Given the description of an element on the screen output the (x, y) to click on. 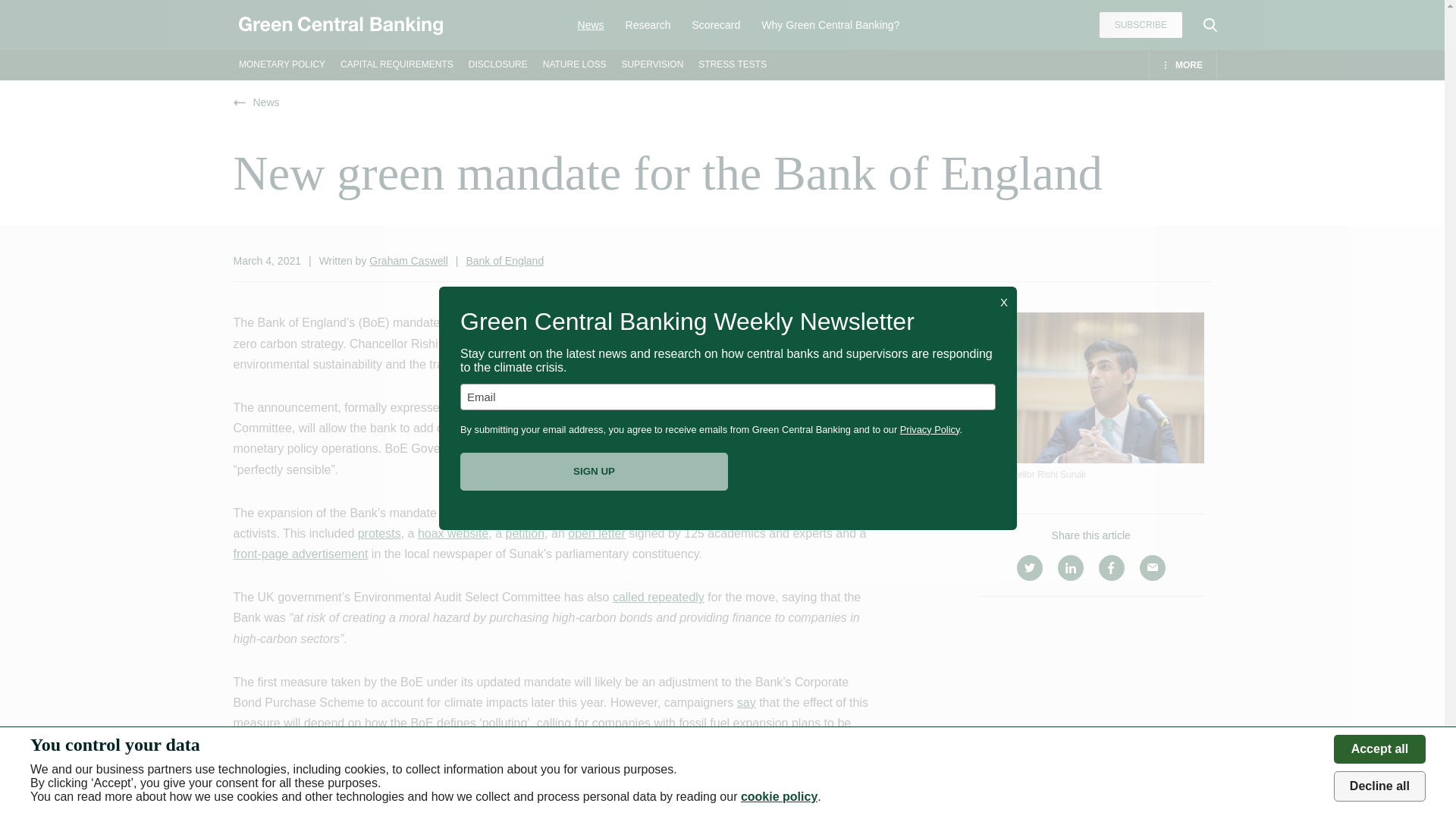
Decline all (1379, 786)
Green Central Banking (340, 25)
MONETARY POLICY (281, 63)
Posts by Graham Caswell (407, 260)
Research (648, 24)
cookie policy (778, 796)
DISCLOSURE (497, 63)
SIGN UP (594, 470)
Scorecard (717, 24)
News (591, 24)
Why Green Central Banking? (830, 24)
Accept all (1379, 748)
CAPITAL REQUIREMENTS (396, 63)
SUBSCRIBE (1140, 24)
